Given the description of an element on the screen output the (x, y) to click on. 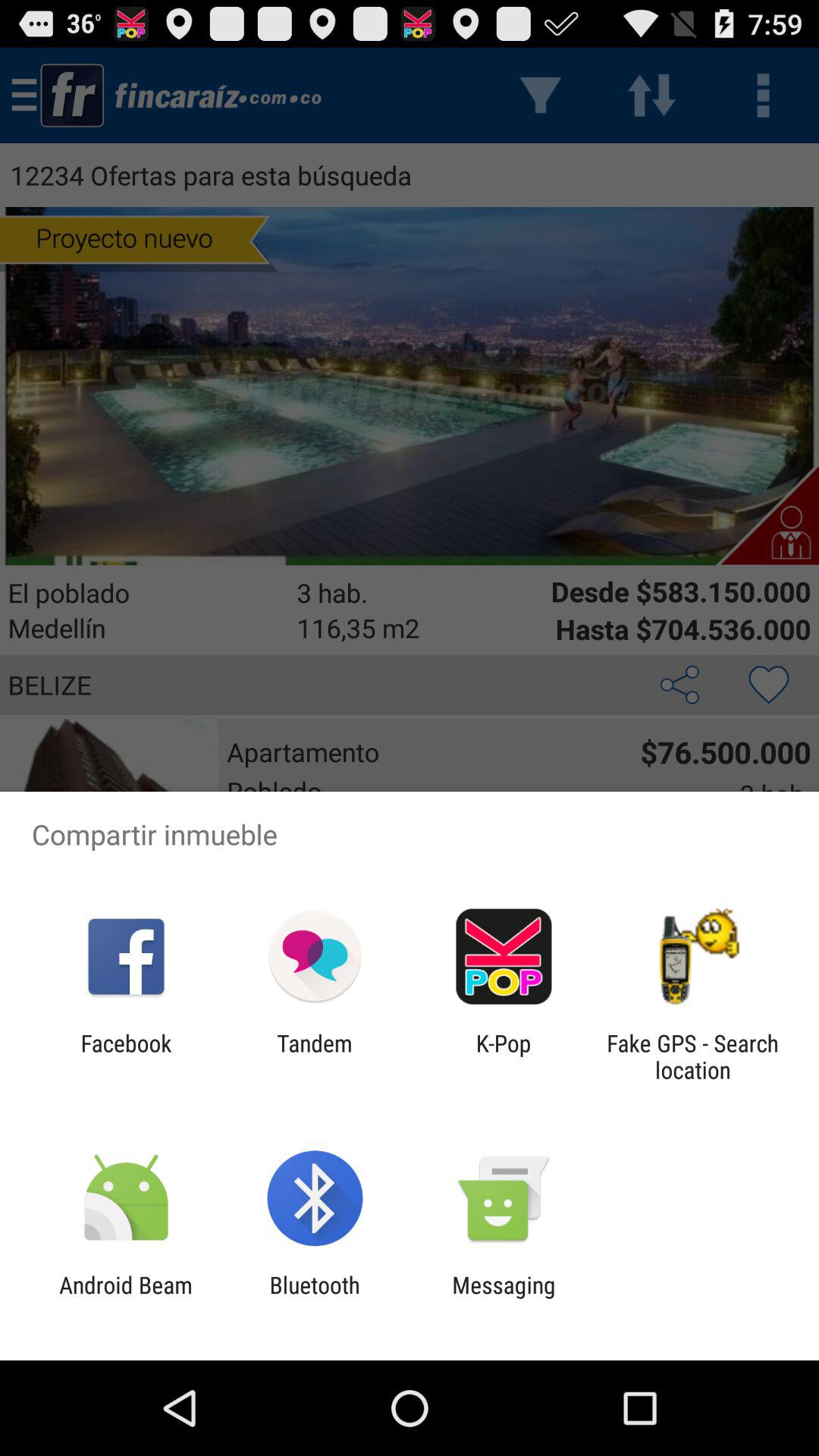
scroll to the facebook app (125, 1056)
